Given the description of an element on the screen output the (x, y) to click on. 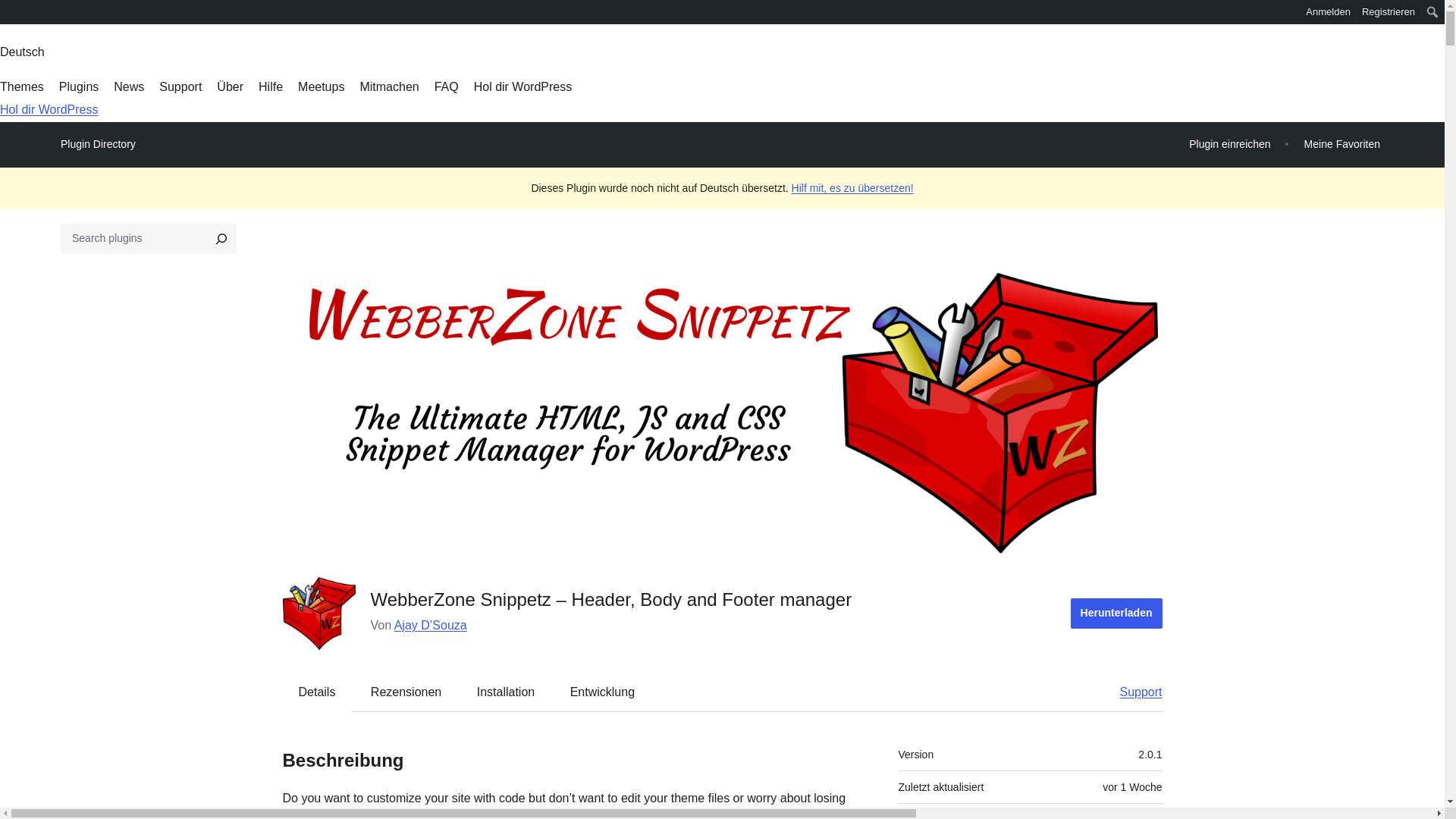
News (128, 87)
Installation (505, 692)
Plugin Directory (97, 143)
Rezensionen (406, 692)
Hol dir WordPress (523, 87)
FAQ (445, 87)
WordPress.org (10, 10)
Hilfe (270, 87)
Registrieren (1388, 12)
Support (1132, 692)
Plugins (79, 87)
Themes (21, 87)
Suchen (18, 13)
Meine Favoriten (1342, 144)
Entwicklung (601, 692)
